Given the description of an element on the screen output the (x, y) to click on. 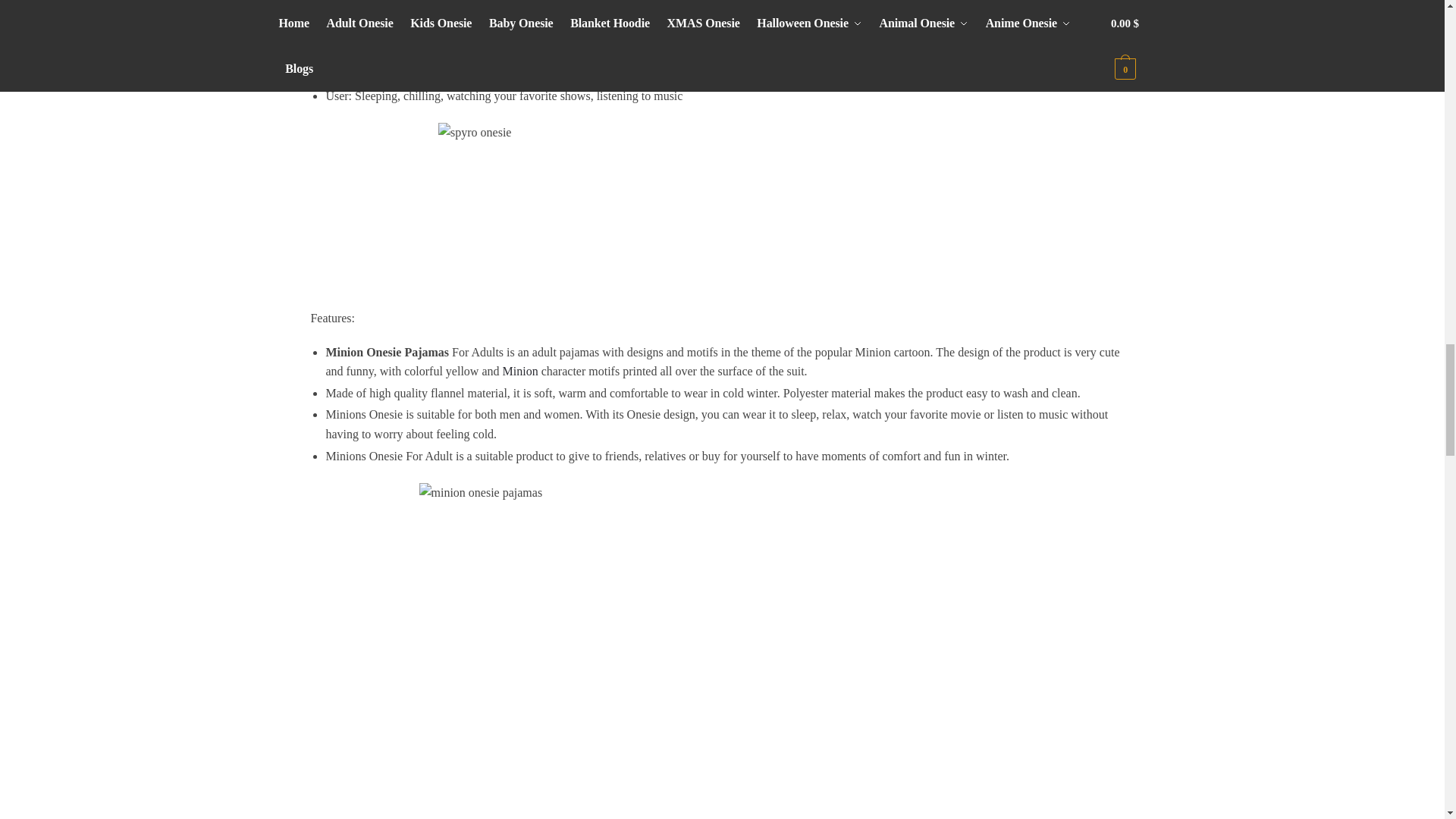
Unisex (384, 51)
Winter (382, 73)
